Given the description of an element on the screen output the (x, y) to click on. 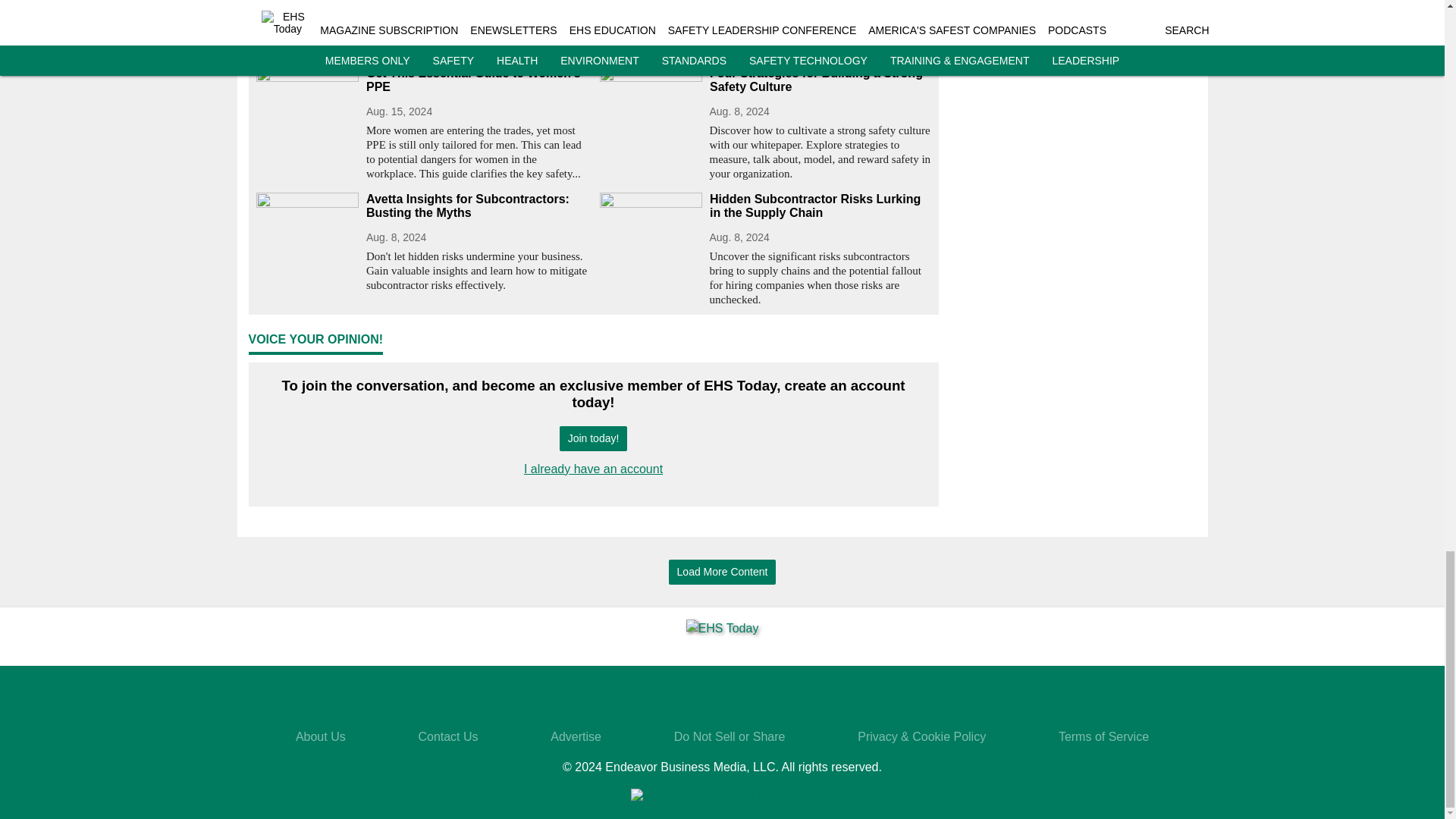
Join today! (593, 438)
SIF Prevention Starts with Better Investigations (764, 2)
Hidden Subcontractor Risks Lurking in the Supply Chain (820, 206)
Avetta Insights for Subcontractors: Busting the Myths (476, 206)
I already have an account (593, 468)
Four Strategies for Building a Strong Safety Culture (820, 80)
